Given the description of an element on the screen output the (x, y) to click on. 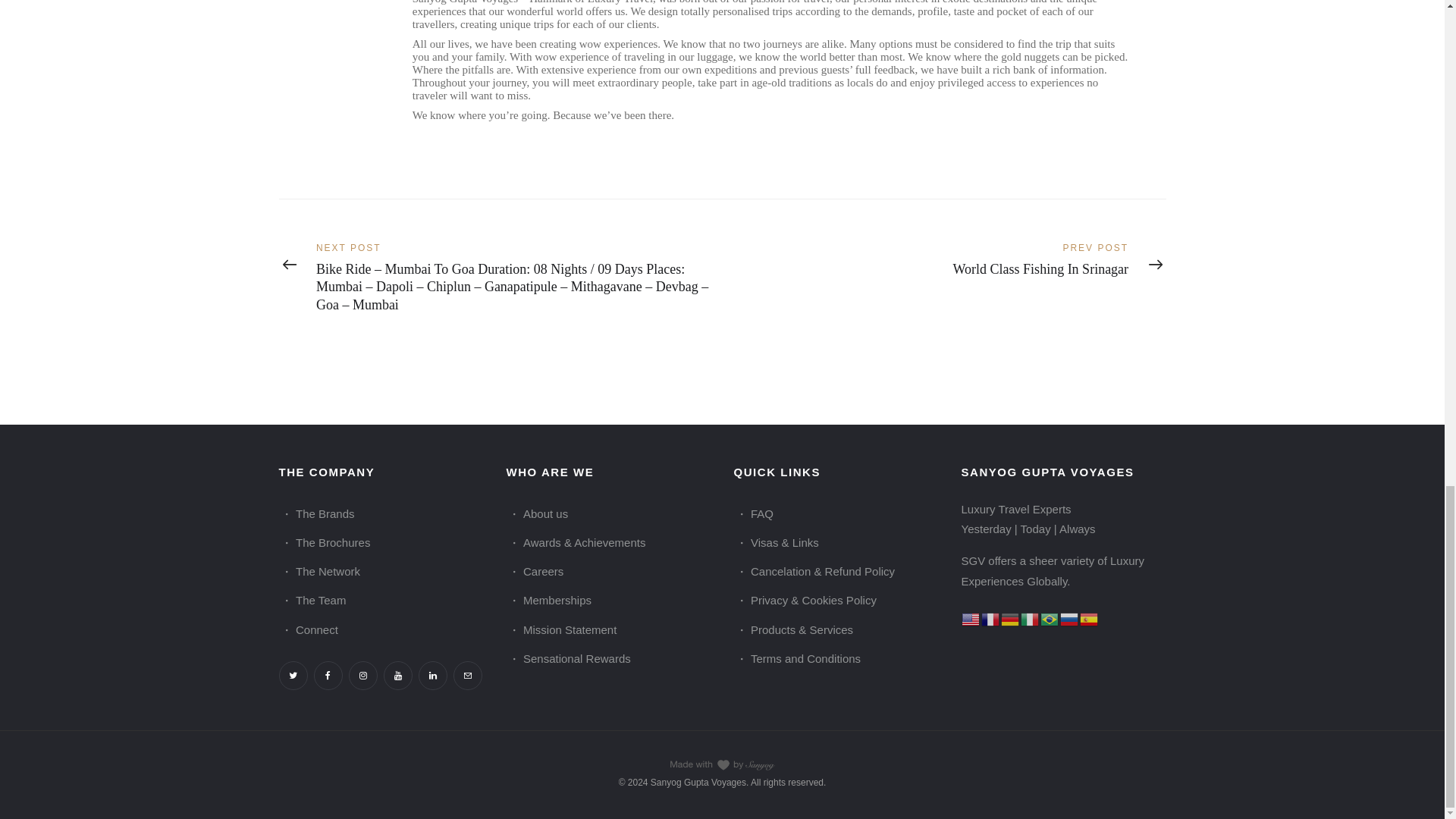
Russian (1069, 617)
Portuguese (1050, 617)
French (991, 617)
German (1010, 617)
English (970, 617)
Italian (1030, 617)
Spanish (1089, 617)
